Given the description of an element on the screen output the (x, y) to click on. 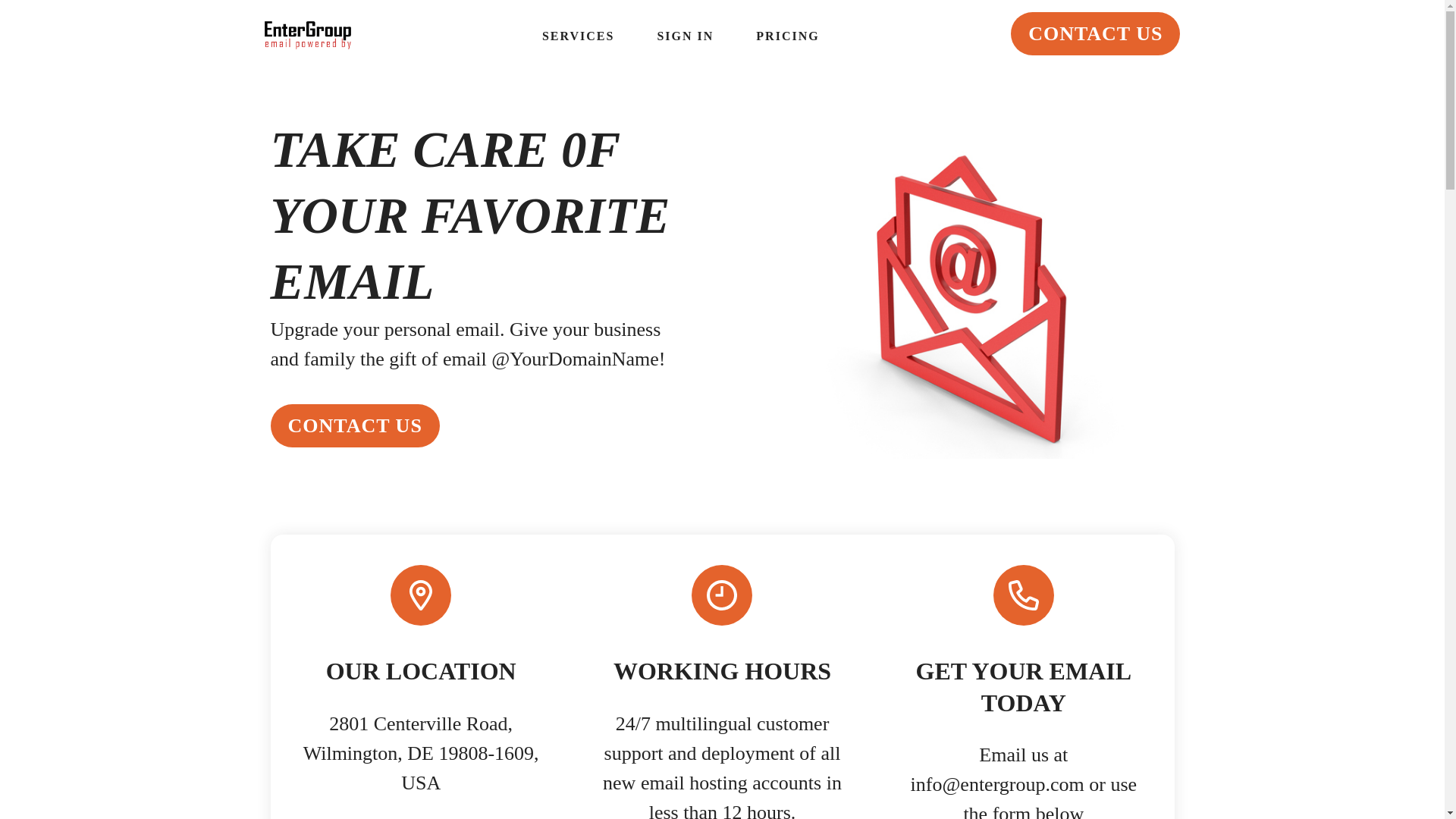
SERVICES (577, 36)
PRICING (787, 36)
SIGN IN (684, 36)
CONTACT US (354, 425)
CONTACT US (1094, 33)
